Given the description of an element on the screen output the (x, y) to click on. 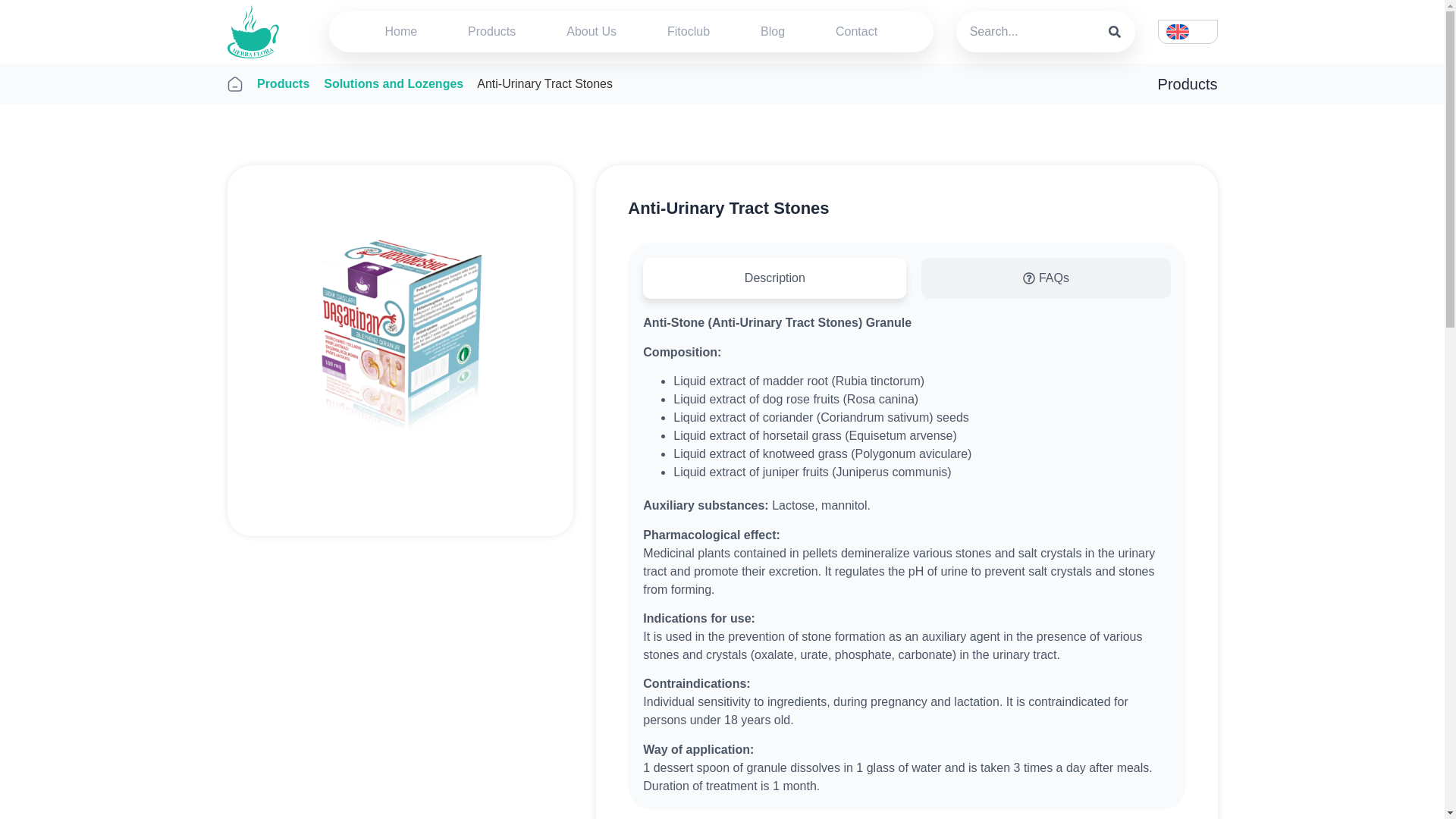
Blog (772, 31)
Contact (856, 31)
Products (491, 31)
Fitoclub (688, 31)
About Us (591, 31)
Home (400, 31)
dasheriden (400, 338)
